Given the description of an element on the screen output the (x, y) to click on. 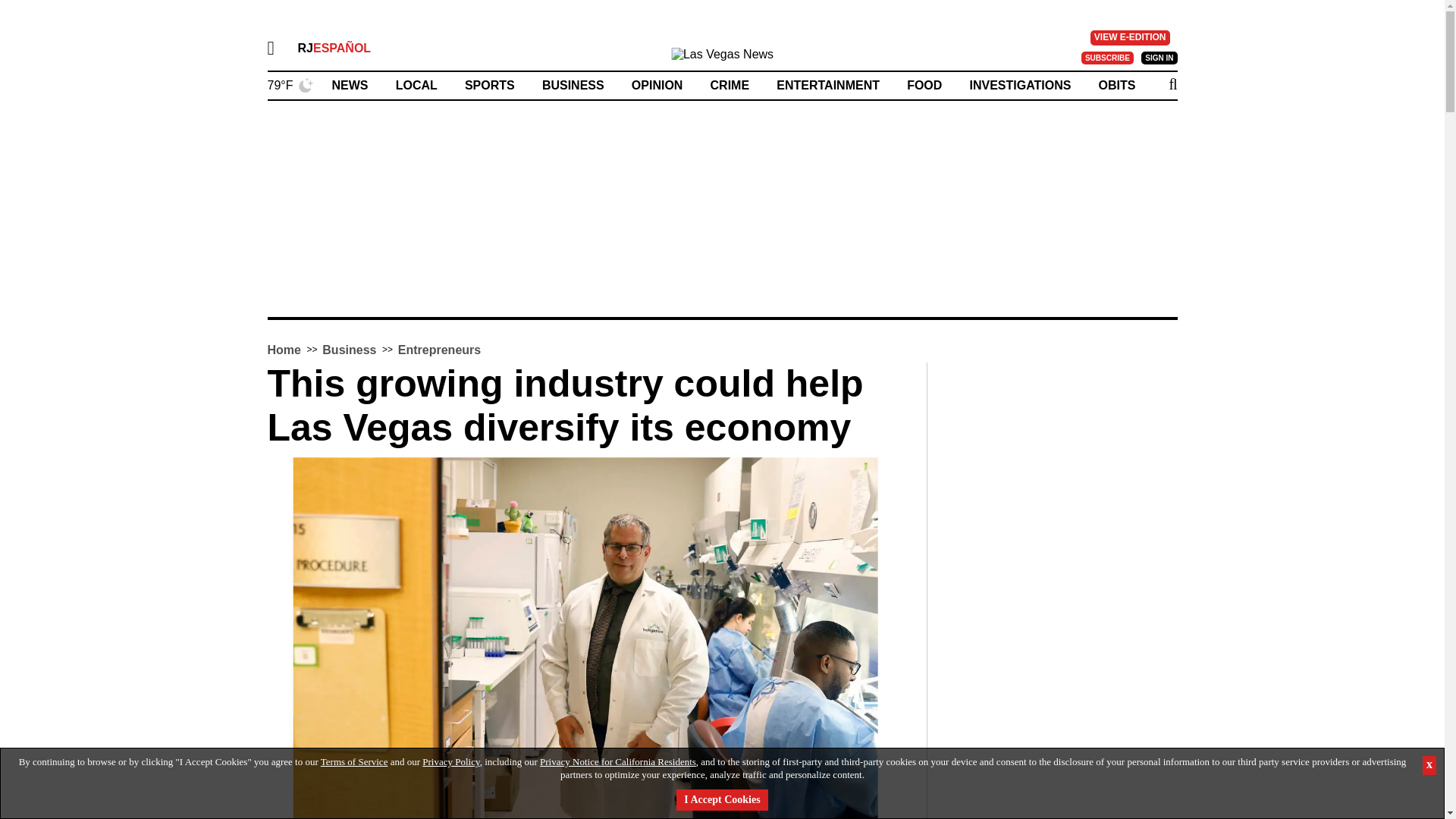
OBITS (1117, 84)
Weather Forecast (290, 83)
VIEW E-EDITION (1130, 37)
BUSINESS (572, 84)
SUBSCRIBE (1107, 58)
FOOD (924, 84)
Las Vegas News (722, 58)
ENTERTAINMENT (827, 84)
OPINION (656, 84)
CRIME (729, 84)
INVESTIGATIONS (1019, 84)
NEWS (349, 84)
SPORTS (489, 84)
LOCAL (417, 84)
SIGN IN (1158, 58)
